Given the description of an element on the screen output the (x, y) to click on. 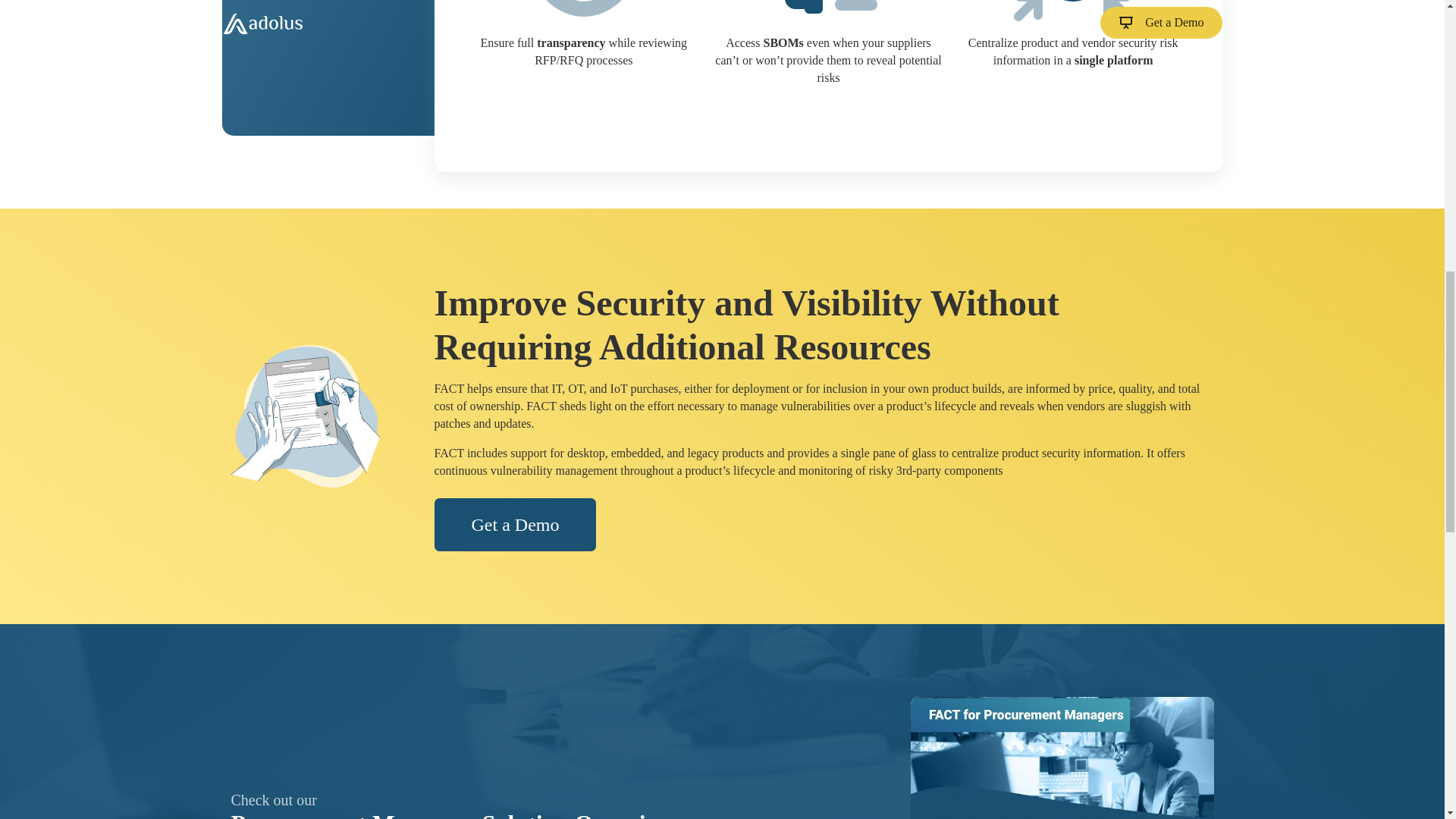
Opens in a new tab (1061, 796)
Get a Demo (1061, 796)
